Given the description of an element on the screen output the (x, y) to click on. 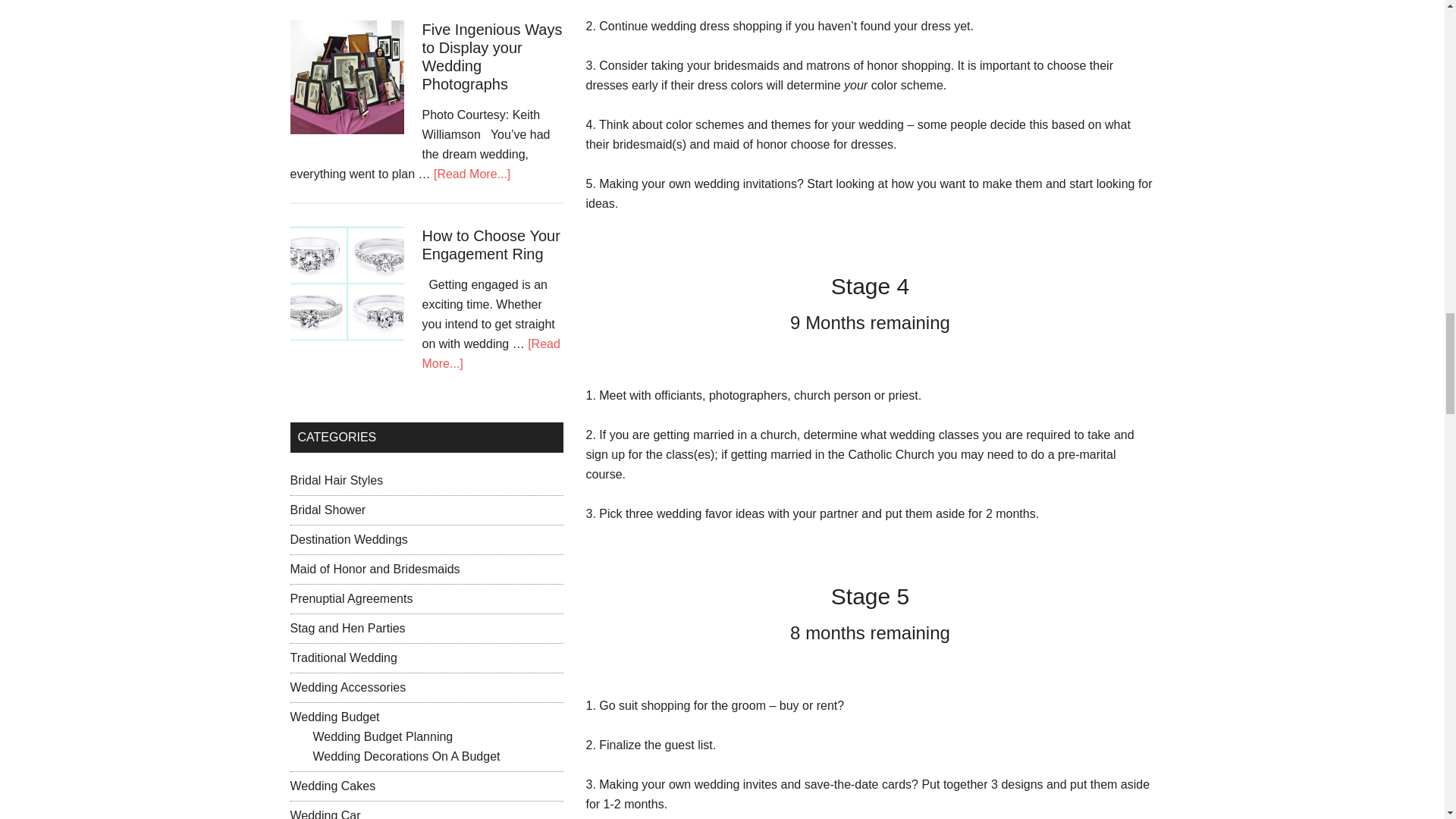
Bridal Shower (327, 509)
Wedding Budget Planning (382, 736)
Maid of Honor and Bridesmaids (374, 568)
Destination Weddings (348, 539)
How to Choose Your Engagement Ring (490, 244)
Stag and Hen Parties (346, 627)
Five Ingenious Ways to Display your Wedding Photographs (492, 56)
Bridal Hair Styles (335, 480)
Wedding Decorations On A Budget (406, 756)
Wedding Budget (333, 716)
